Given the description of an element on the screen output the (x, y) to click on. 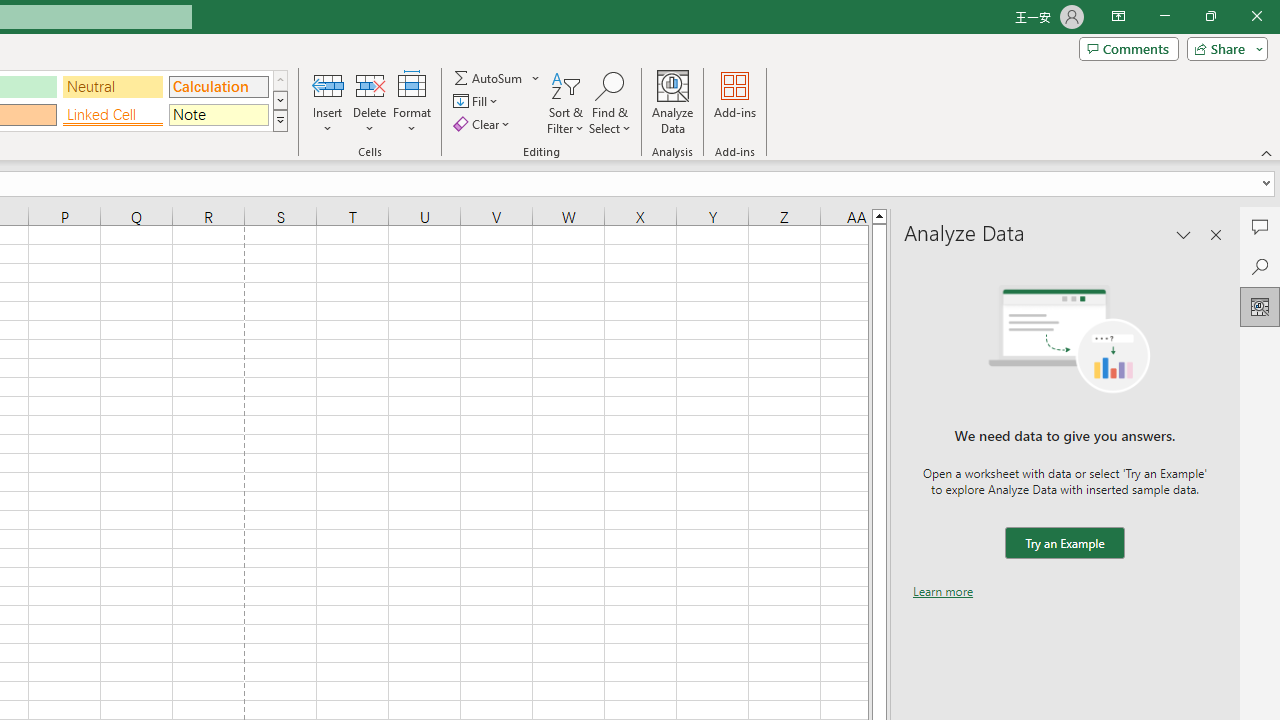
Calculation (218, 86)
Sum (489, 78)
Note (218, 114)
Delete Cells... (369, 84)
